Given the description of an element on the screen output the (x, y) to click on. 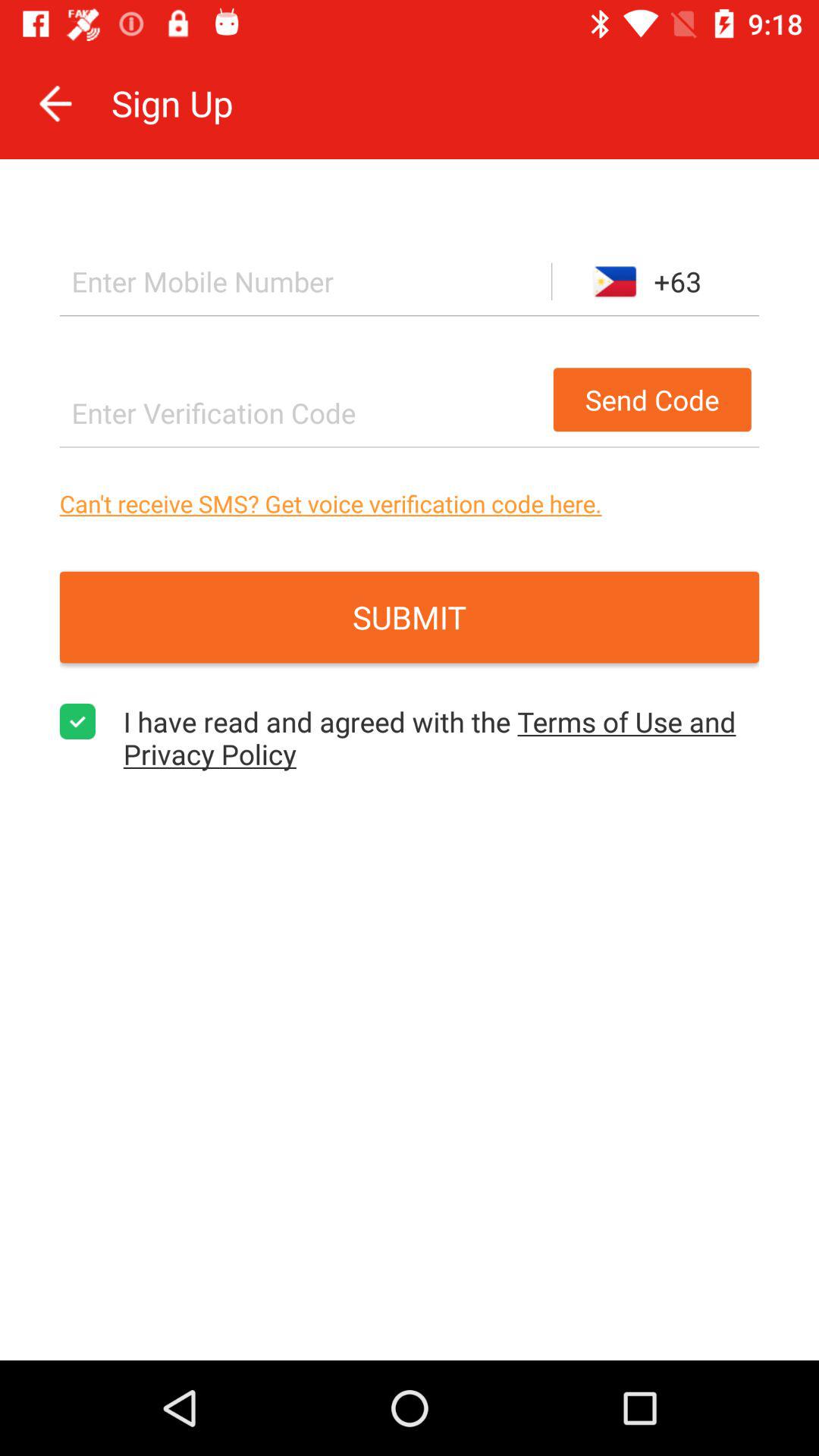
select item next to i have read (77, 721)
